Given the description of an element on the screen output the (x, y) to click on. 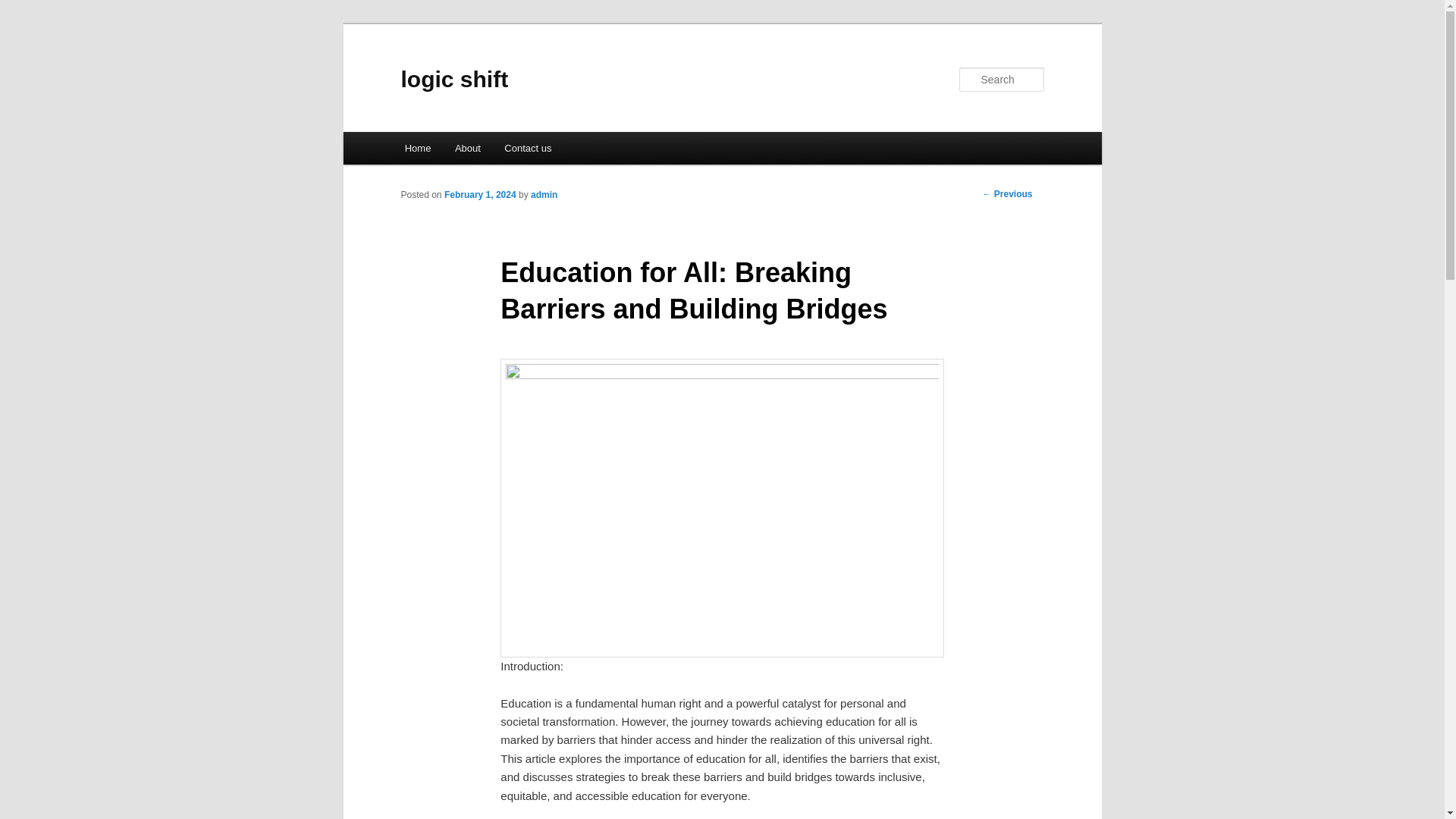
Home (417, 147)
Home (417, 147)
View all posts by admin (544, 194)
About (467, 147)
Search (24, 8)
Contact us (528, 147)
About (467, 147)
7:22 pm (480, 194)
February 1, 2024 (480, 194)
Contact us (528, 147)
admin (544, 194)
logic shift (454, 78)
